Given the description of an element on the screen output the (x, y) to click on. 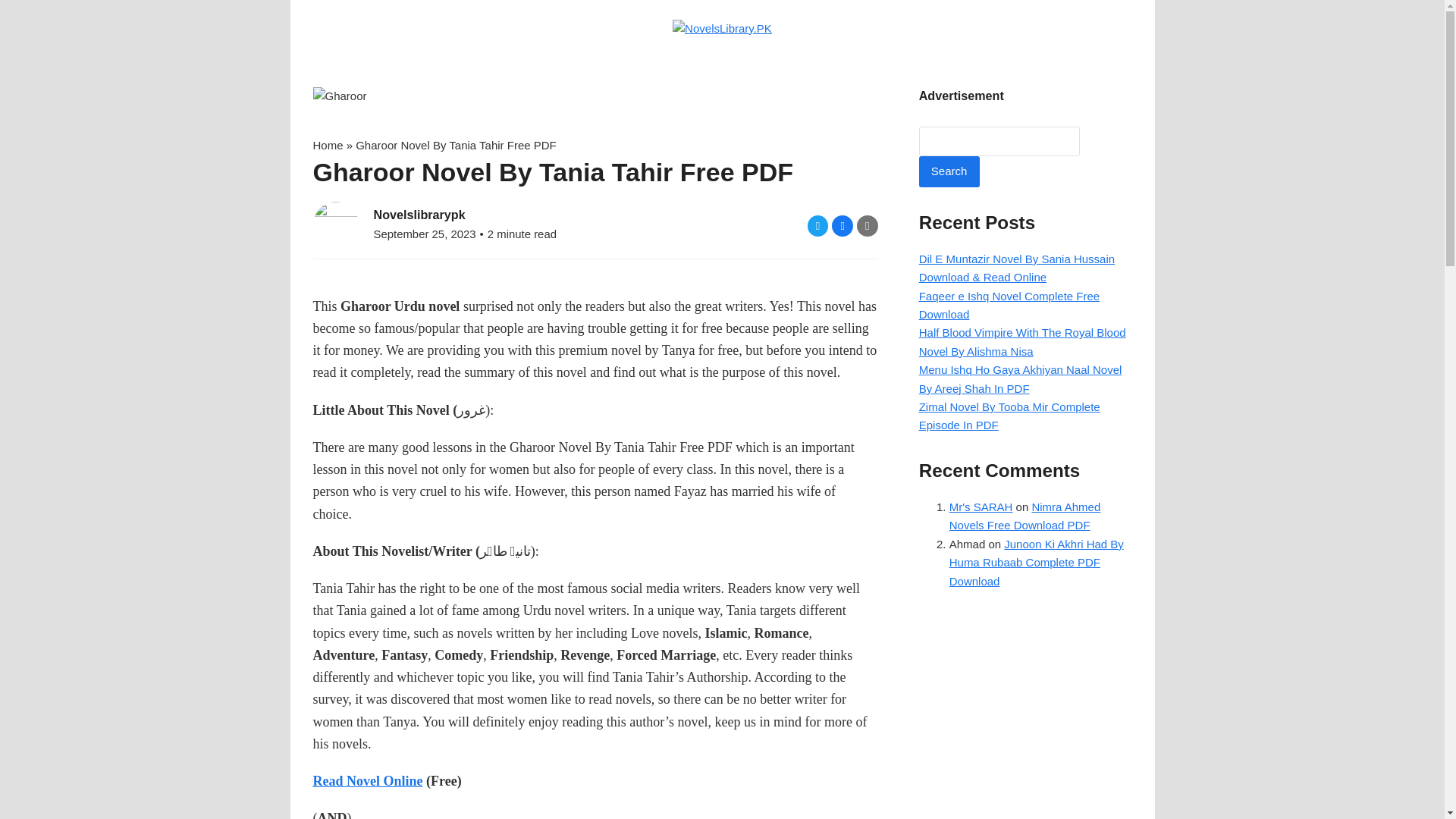
Mr's SARAH (981, 506)
Share on Twitter (818, 225)
Go to Author Page (335, 223)
Read Novel Online (367, 780)
Novelslibrarypk (418, 214)
Share on Facebook (842, 225)
Nimra Ahmed Novels Free Download PDF (1024, 515)
Junoon Ki Akhri Had By Huma Rubaab Complete PDF Download (1036, 562)
Faqeer e Ishq Novel Complete Free Download (1008, 305)
